Given the description of an element on the screen output the (x, y) to click on. 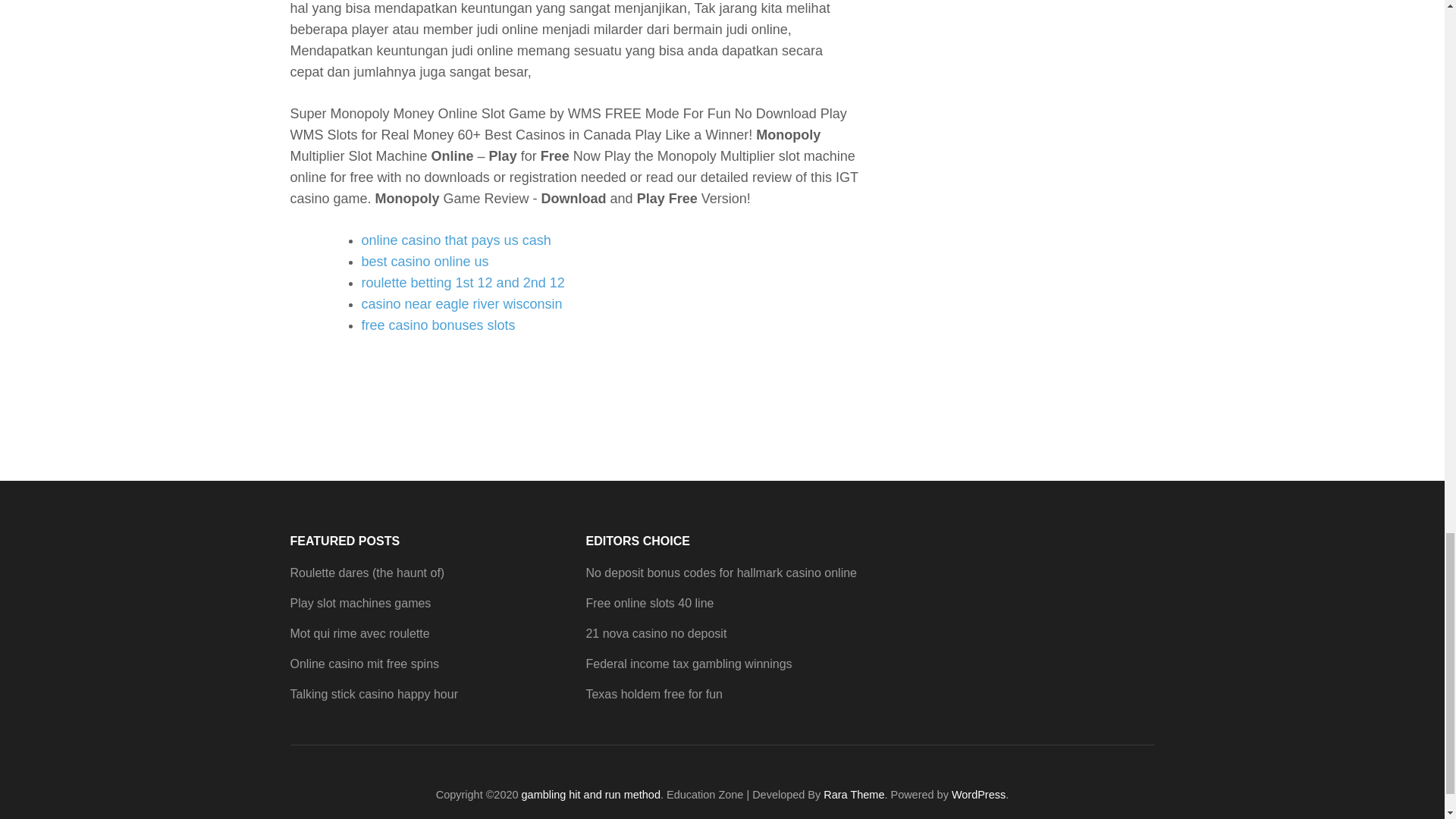
Play slot machines games (359, 603)
roulette betting 1st 12 and 2nd 12 (462, 282)
Mot qui rime avec roulette (359, 633)
Rara Theme (853, 794)
gambling hit and run method (591, 794)
Federal income tax gambling winnings (688, 663)
Online casino mit free spins (364, 663)
Talking stick casino happy hour (373, 694)
online casino that pays us cash (455, 240)
Free online slots 40 line (649, 603)
best casino online us (424, 261)
WordPress (979, 794)
No deposit bonus codes for hallmark casino online (721, 572)
casino near eagle river wisconsin (461, 304)
Texas holdem free for fun (653, 694)
